Given the description of an element on the screen output the (x, y) to click on. 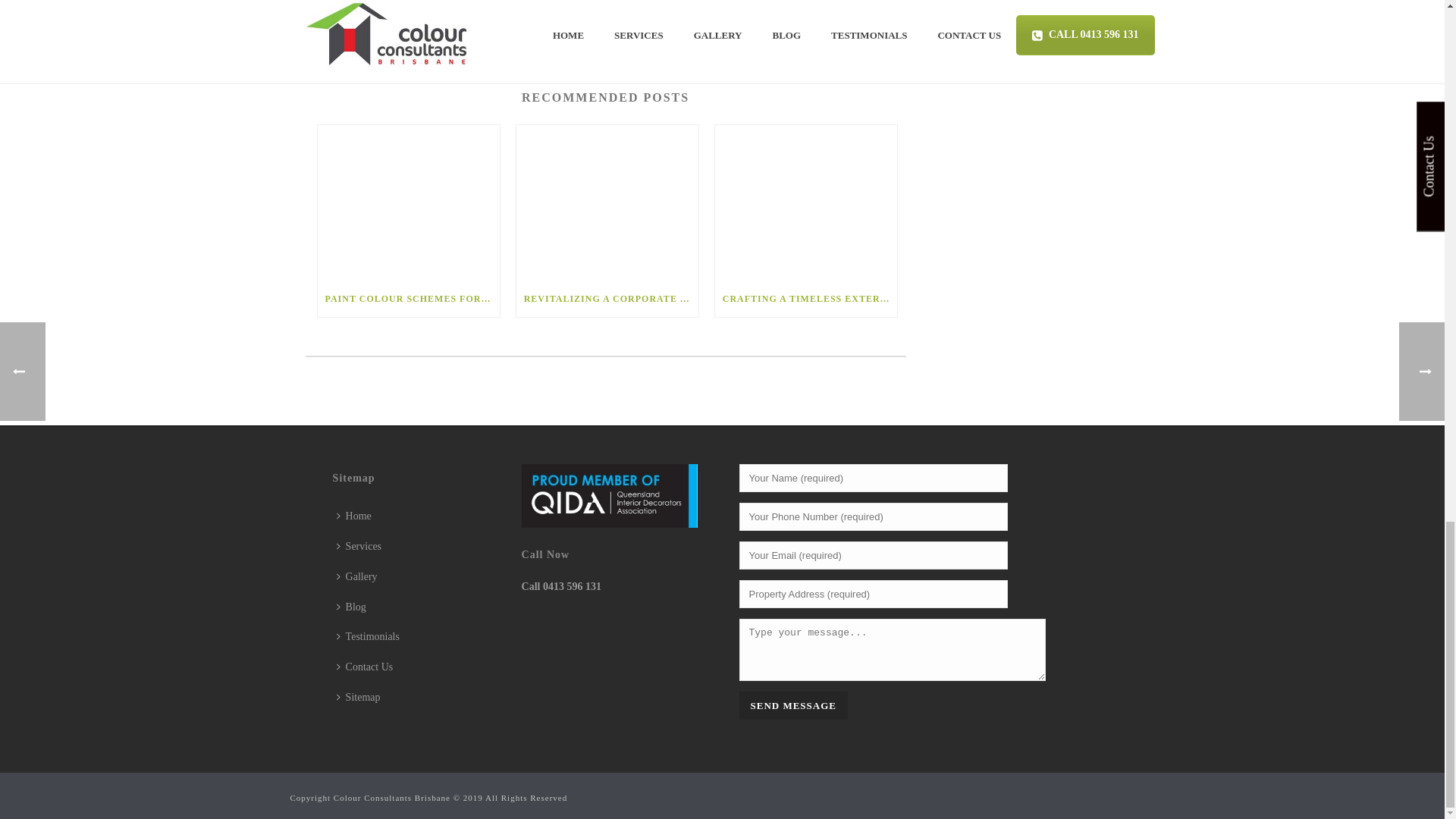
Paint colour schemes for the exterior of your home (408, 202)
Send Message (792, 705)
